Given the description of an element on the screen output the (x, y) to click on. 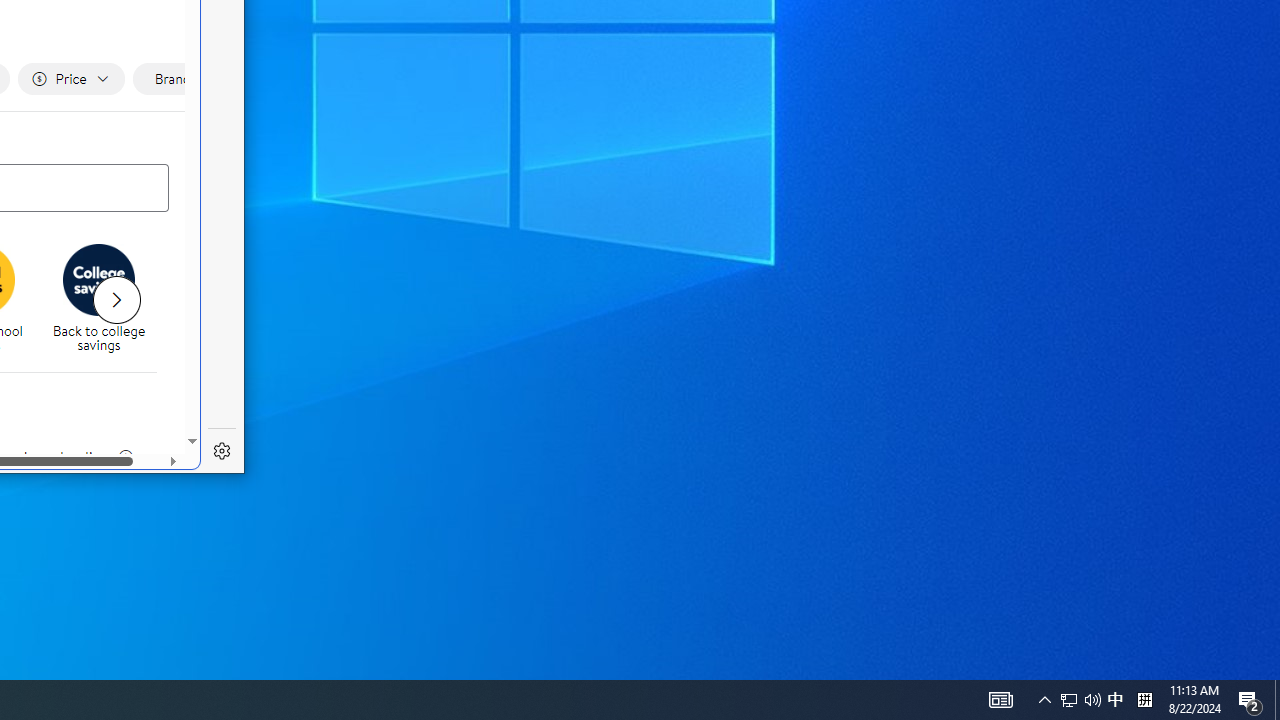
Filter by Price not applied, activate to change (70, 79)
Back to College savings Back to college savings (99, 300)
Tray Input Indicator - Chinese (Simplified, China) (1144, 699)
Filter by Brand not applied, activate to change (180, 79)
Back to College savings (1115, 699)
User Promoted Notification Area (98, 280)
legal information (1080, 699)
Next slide for chipModuleWithImages list (125, 457)
Show desktop (116, 299)
Q2790: 100% (1277, 699)
Back to college savings (1069, 699)
